Given the description of an element on the screen output the (x, y) to click on. 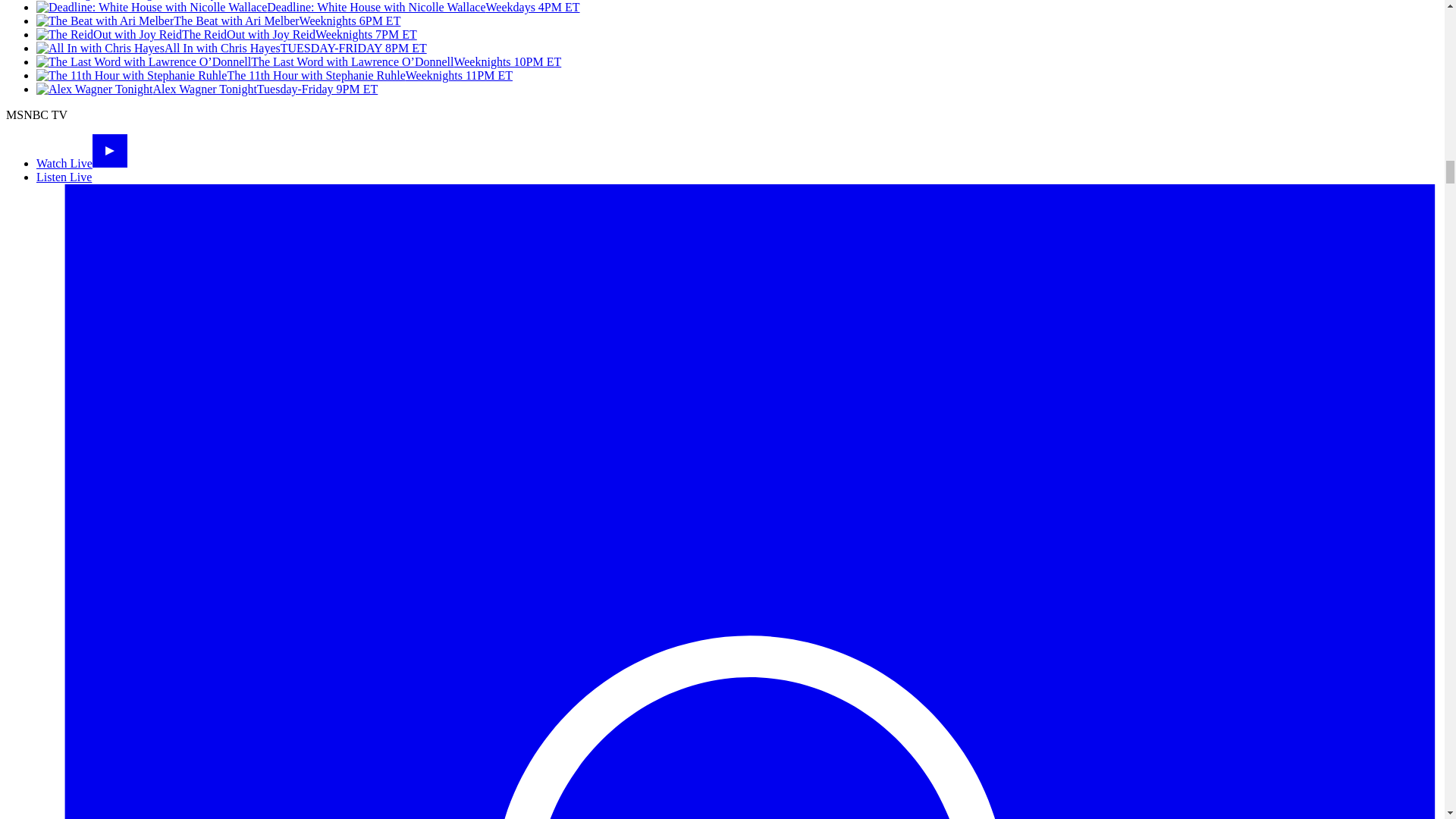
Watch Live (82, 163)
Alex Wagner TonightTuesday-Friday 9PM ET (206, 88)
All In with Chris HayesTUESDAY-FRIDAY 8PM ET (231, 47)
The Beat with Ari MelberWeeknights 6PM ET (218, 20)
The ReidOut with Joy ReidWeeknights 7PM ET (226, 33)
The 11th Hour with Stephanie RuhleWeeknights 11PM ET (274, 74)
Deadline: White House with Nicolle WallaceWeekdays 4PM ET (307, 6)
